Given the description of an element on the screen output the (x, y) to click on. 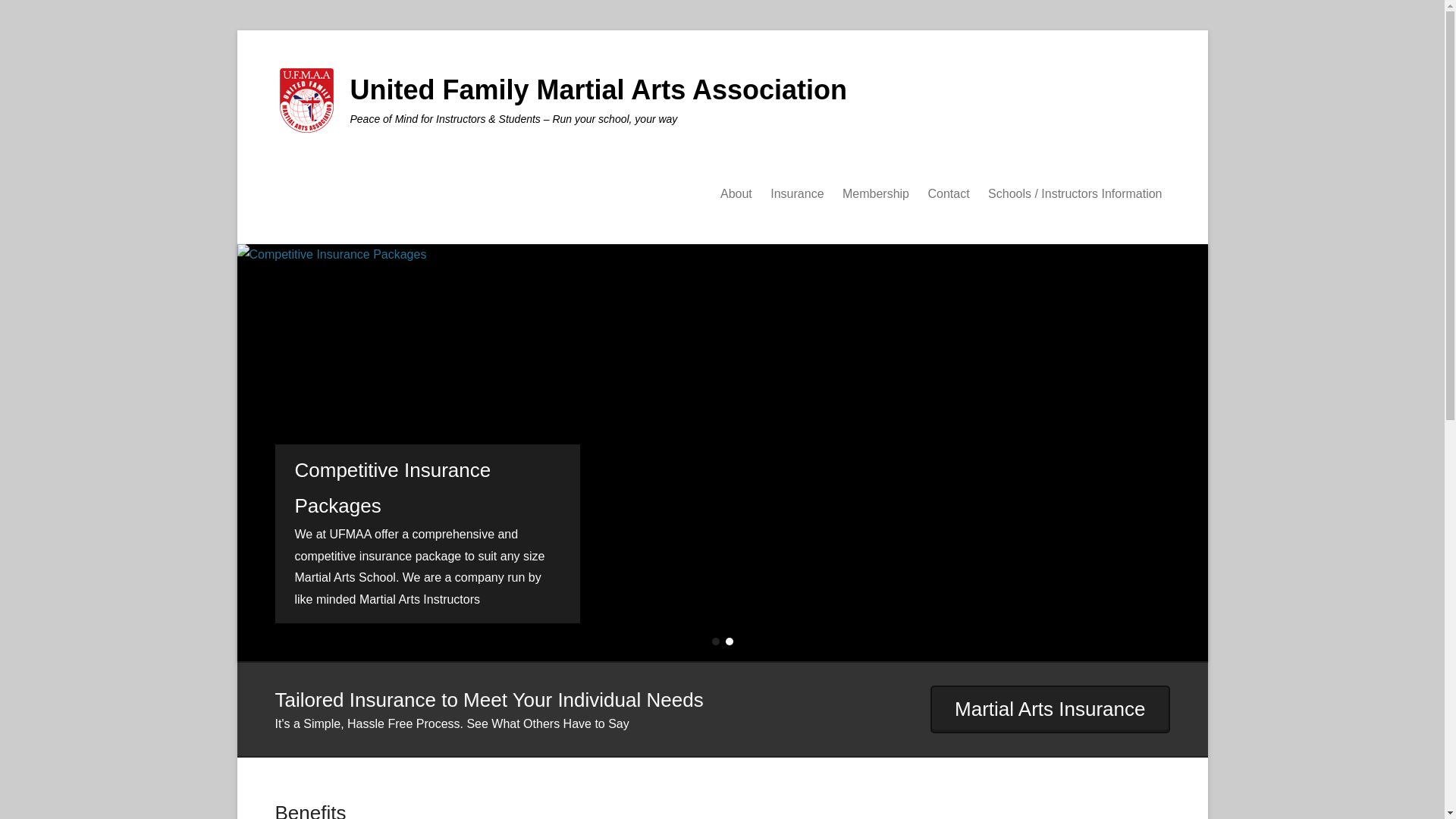
Competitive Insurance Packages (426, 488)
Insurance (796, 193)
1 (715, 641)
About (736, 193)
Contact (948, 193)
Competitive Insurance Packages (426, 488)
Membership (875, 193)
United Family Martial Arts Association (598, 89)
United Family Martial Arts Association (598, 89)
Martial Arts Insurance (1049, 709)
2 (728, 641)
